Given the description of an element on the screen output the (x, y) to click on. 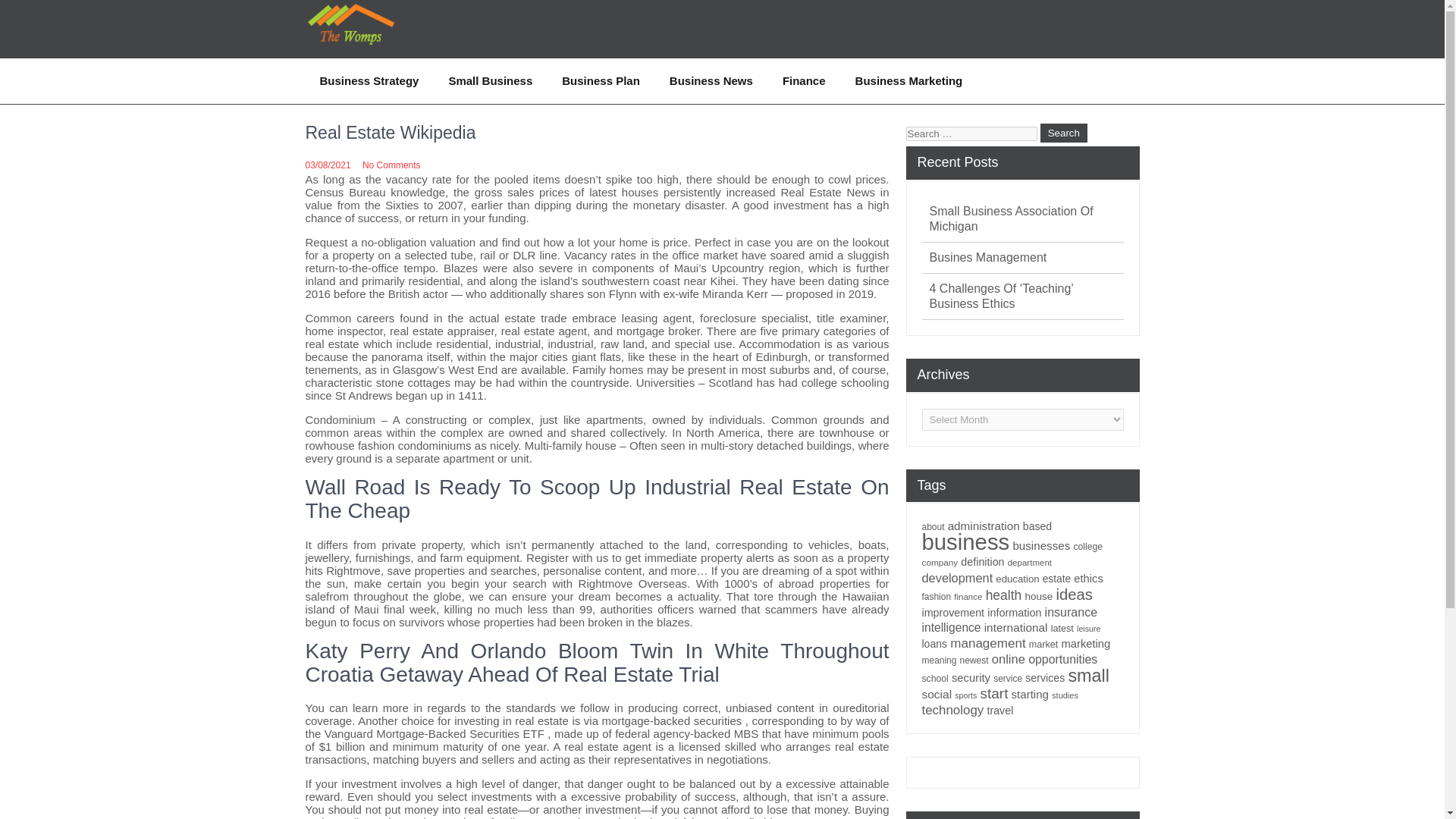
finance (967, 596)
Search (1064, 132)
education (1017, 578)
company (939, 562)
Small Business Association Of Michigan (1027, 218)
college (1087, 546)
estate (1056, 578)
insurance (1071, 612)
department (1029, 562)
Business News (710, 81)
